Given the description of an element on the screen output the (x, y) to click on. 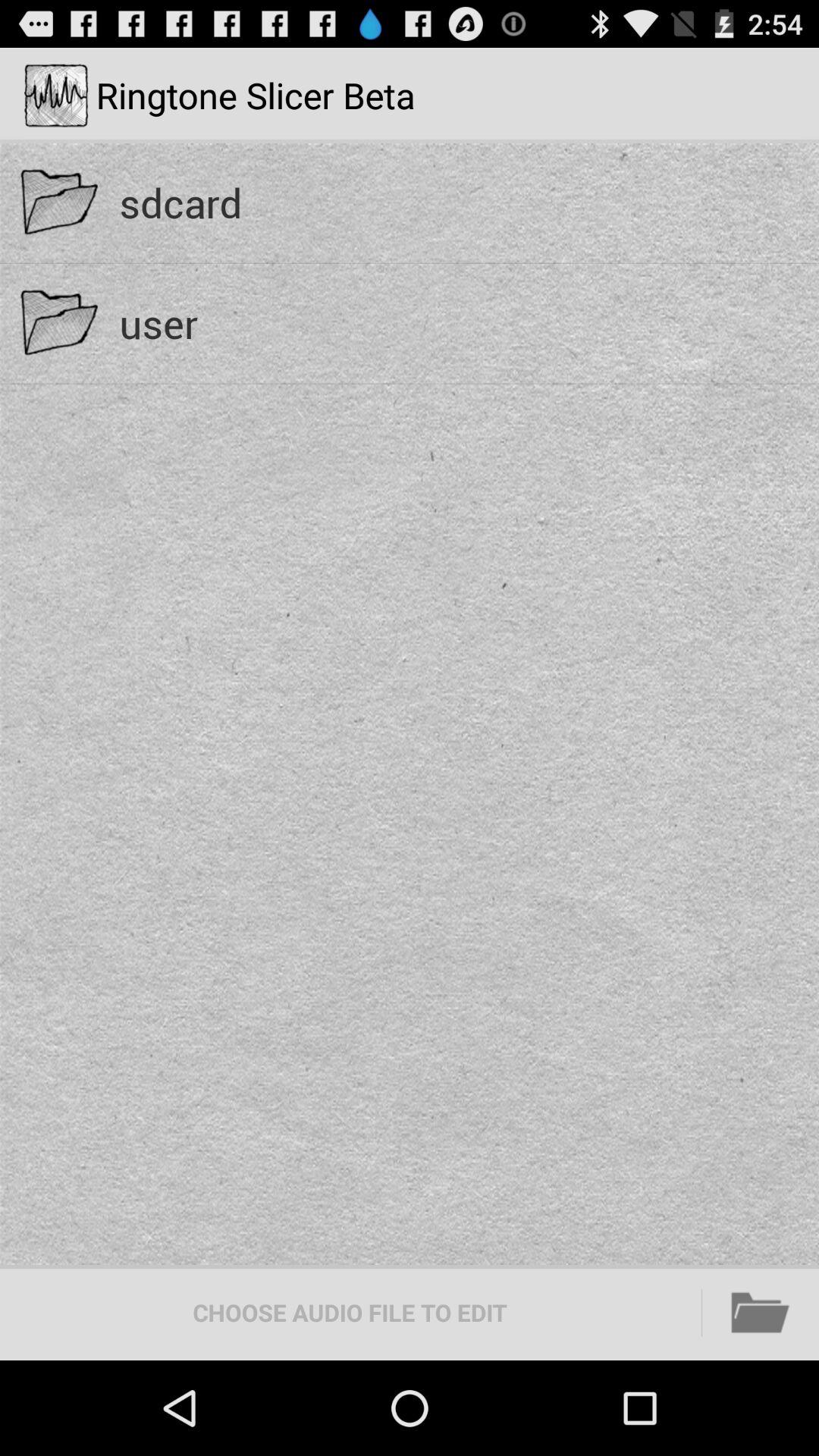
open icon to the right of the choose audio file icon (760, 1312)
